Given the description of an element on the screen output the (x, y) to click on. 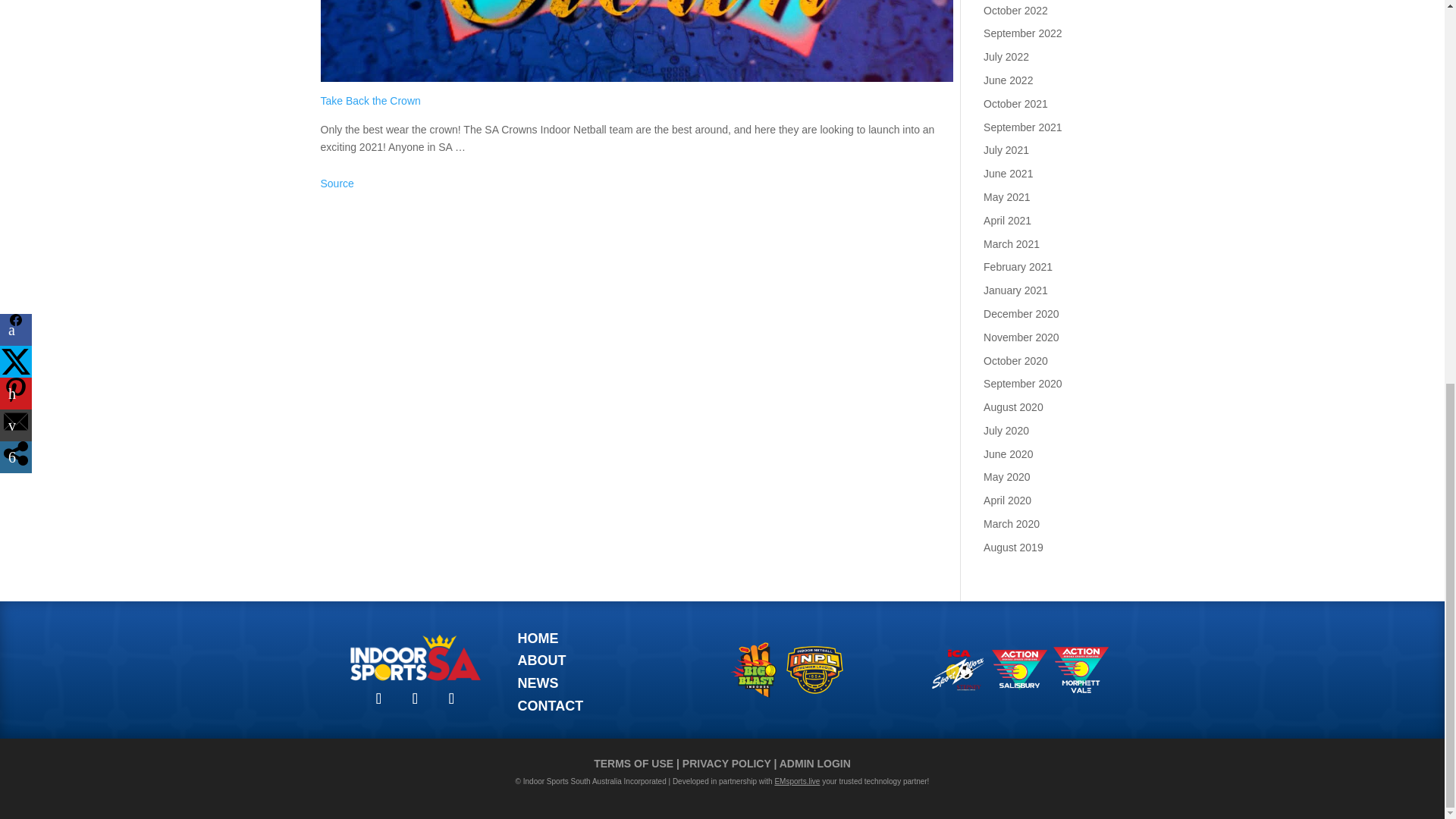
Take Back the Crown (636, 40)
Morphett Vale (1079, 670)
Salisbury (1018, 670)
Follow on Twitter (451, 698)
bbi-logo (752, 670)
Inpl-logo (814, 670)
Follow on Facebook (379, 698)
Issa 2020 Menu Light (415, 657)
Follow on Instagram (415, 698)
ICA Sportzworx Stepney (957, 670)
